Given the description of an element on the screen output the (x, y) to click on. 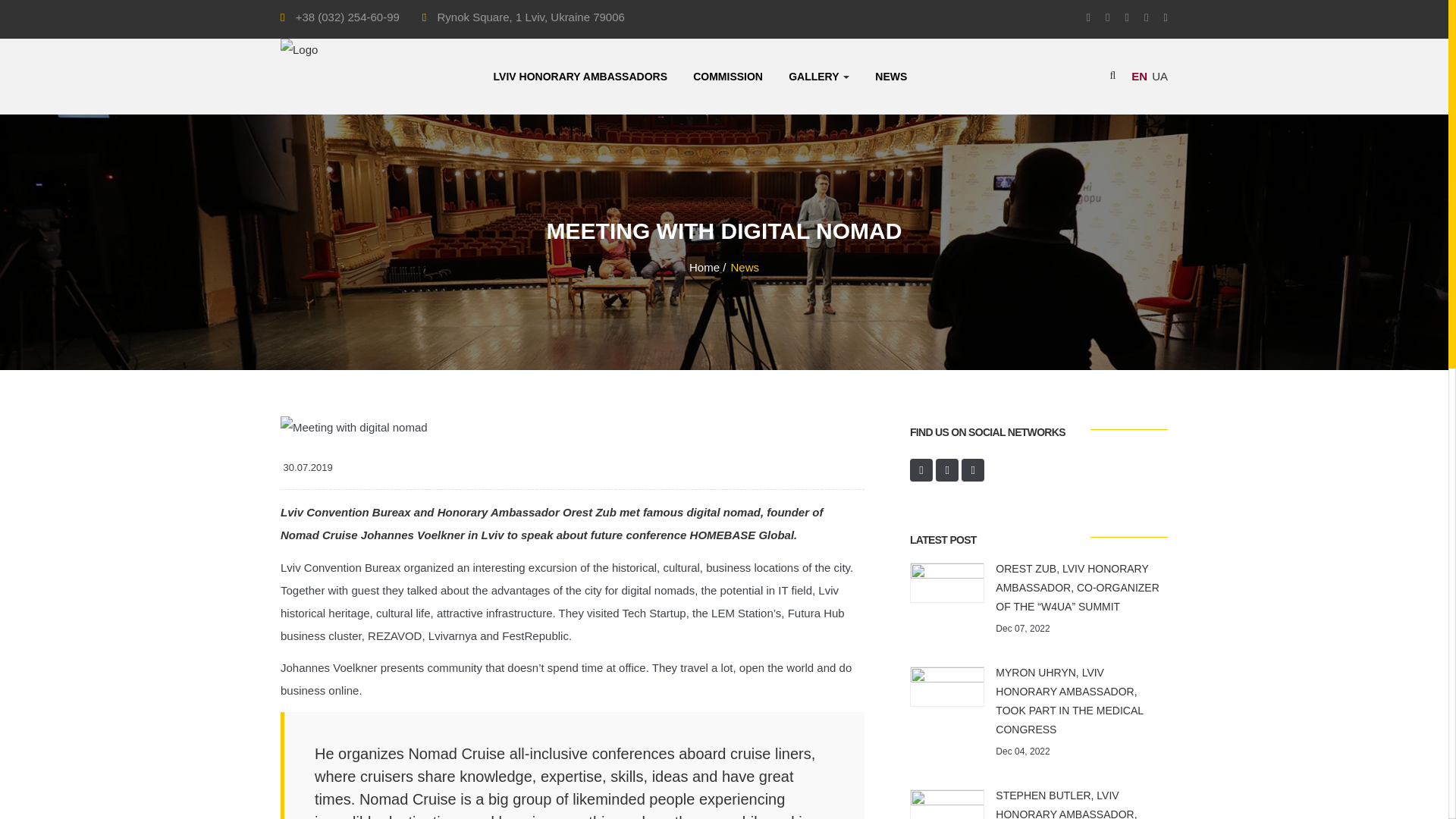
COMMISSION (727, 75)
Rynok Square, 1 Lviv, Ukraine 79006 (530, 16)
LVIV HONORARY AMBASSADORS (579, 75)
GALLERY (818, 75)
NEWS (891, 75)
